Given the description of an element on the screen output the (x, y) to click on. 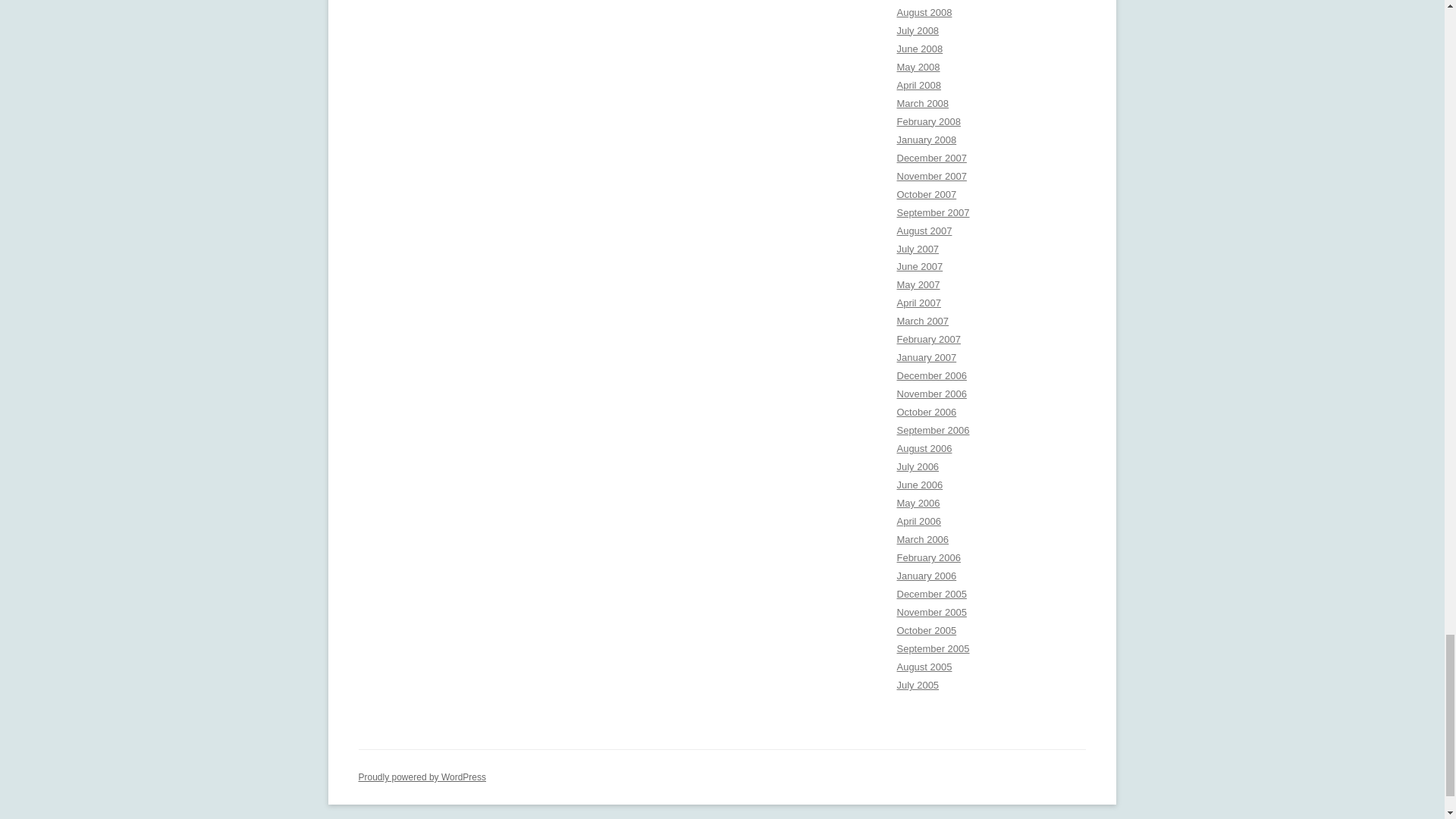
Semantic Personal Publishing Platform (422, 777)
